Given the description of an element on the screen output the (x, y) to click on. 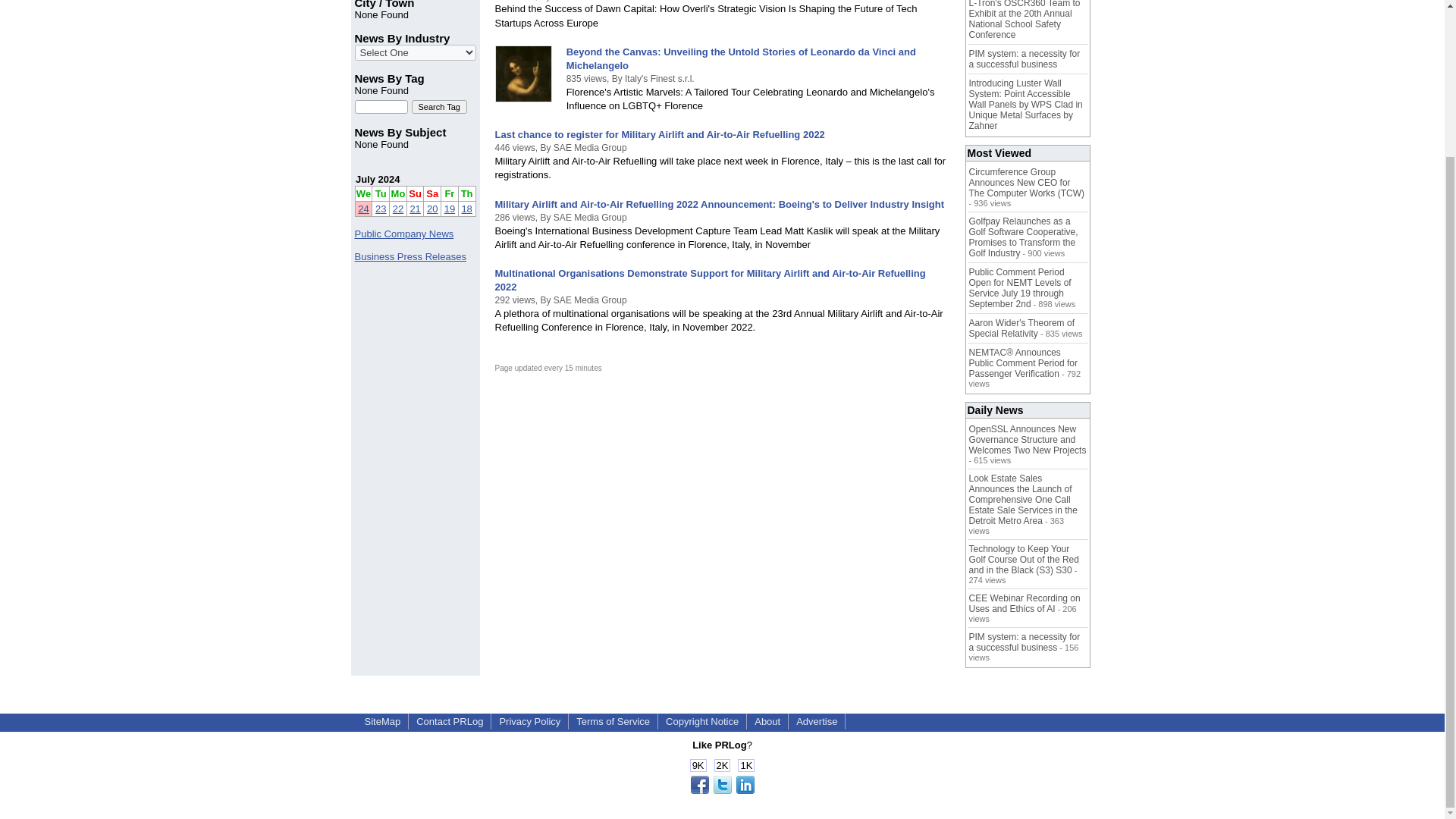
23 (380, 208)
July 2024 (377, 179)
Click on an option to filter or browse by that option (415, 52)
22 (398, 208)
18 (466, 208)
24 (363, 208)
20 (432, 208)
21 (414, 208)
Search Tag (437, 106)
Public Company News (404, 233)
Share this page! (722, 790)
